Given the description of an element on the screen output the (x, y) to click on. 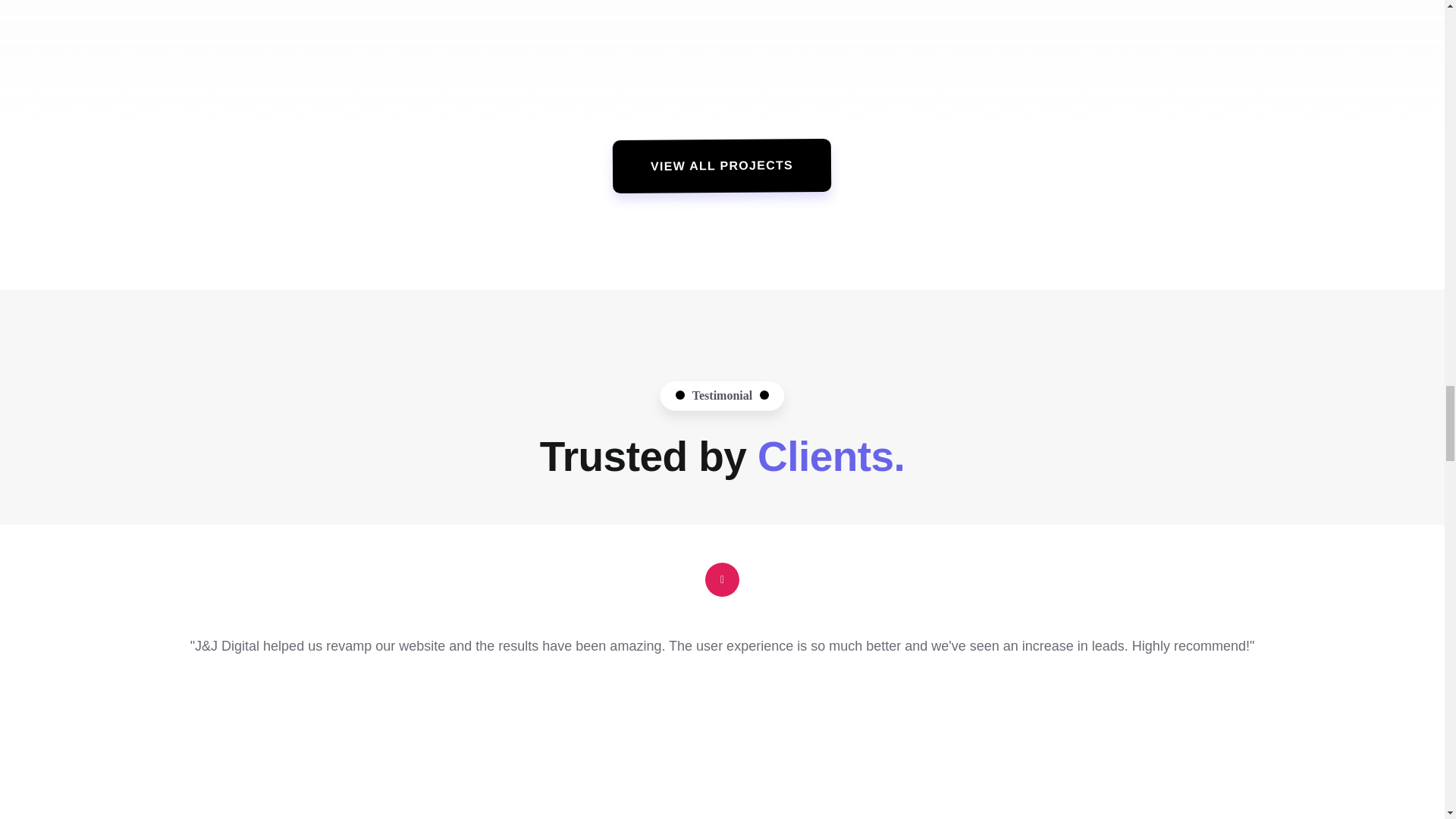
VIEW ALL PROJECTS (721, 164)
